Given the description of an element on the screen output the (x, y) to click on. 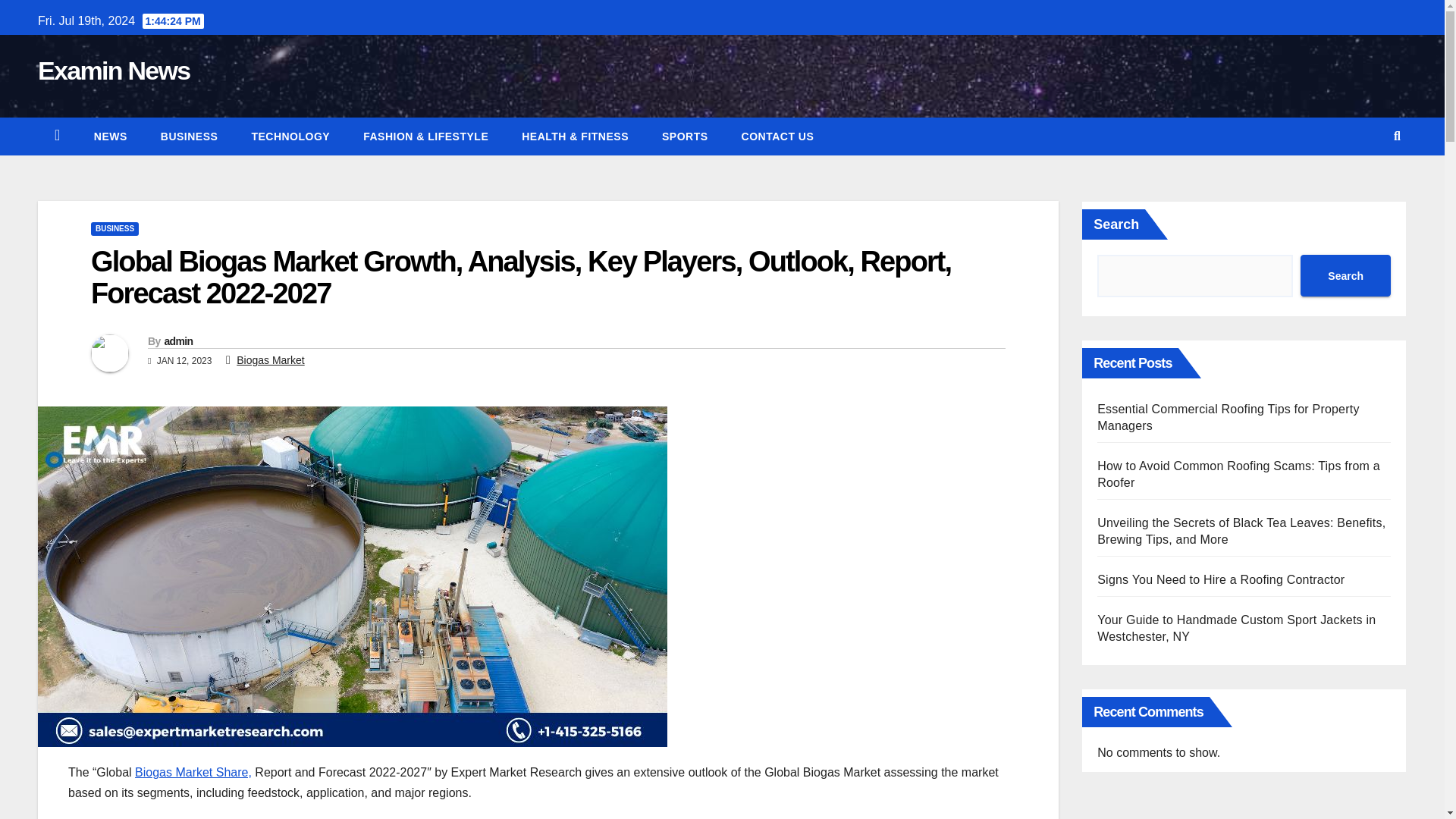
CONTACT US (778, 136)
Technology (290, 136)
Business (189, 136)
BUSINESS (114, 228)
SPORTS (685, 136)
News (110, 136)
TECHNOLOGY (290, 136)
BUSINESS (189, 136)
Examin News (113, 70)
admin (177, 340)
Biogas Market Share, (193, 771)
NEWS (110, 136)
CONTACT US (778, 136)
